Given the description of an element on the screen output the (x, y) to click on. 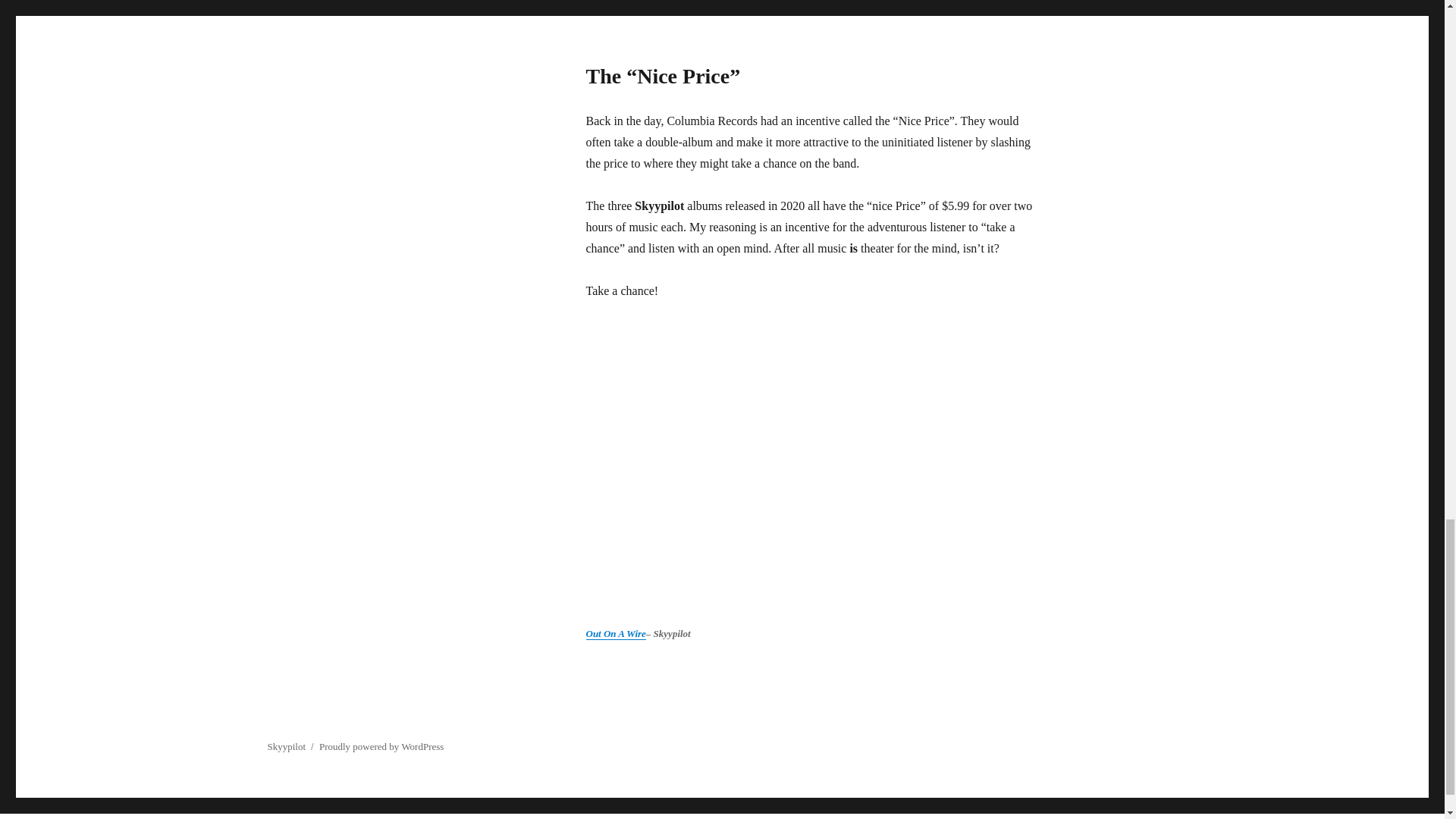
Skyypilot (285, 746)
Proudly powered by WordPress (381, 746)
Out On A Wire (615, 633)
